Given the description of an element on the screen output the (x, y) to click on. 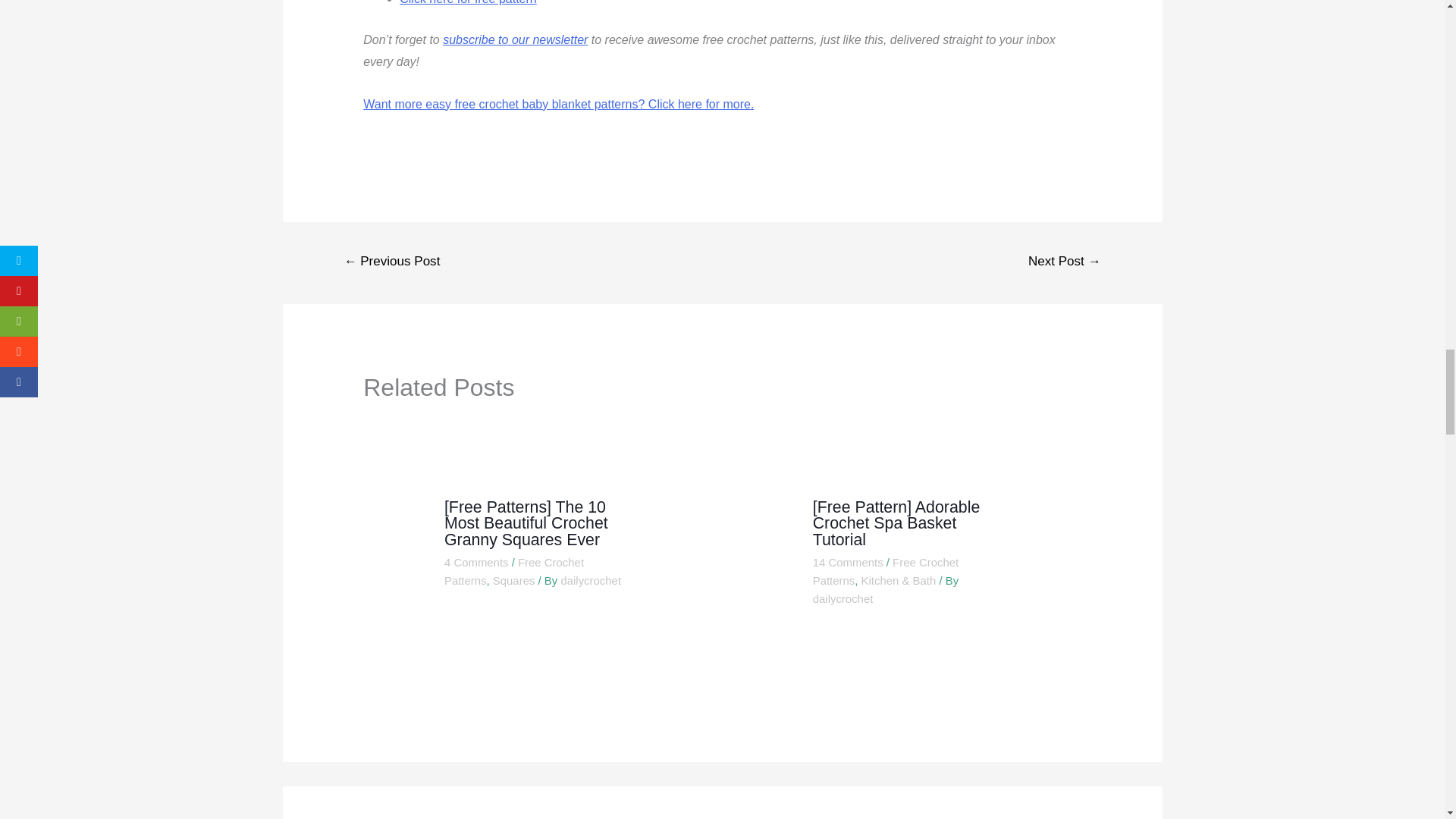
dailycrochet (590, 580)
4 Comments (476, 562)
14 Comments (847, 562)
Click here for free pattern (467, 2)
dailycrochet (842, 598)
Free Crochet Patterns (513, 571)
subscribe to our newsletter (515, 39)
Squares (514, 580)
View all posts by dailycrochet (842, 598)
